Given the description of an element on the screen output the (x, y) to click on. 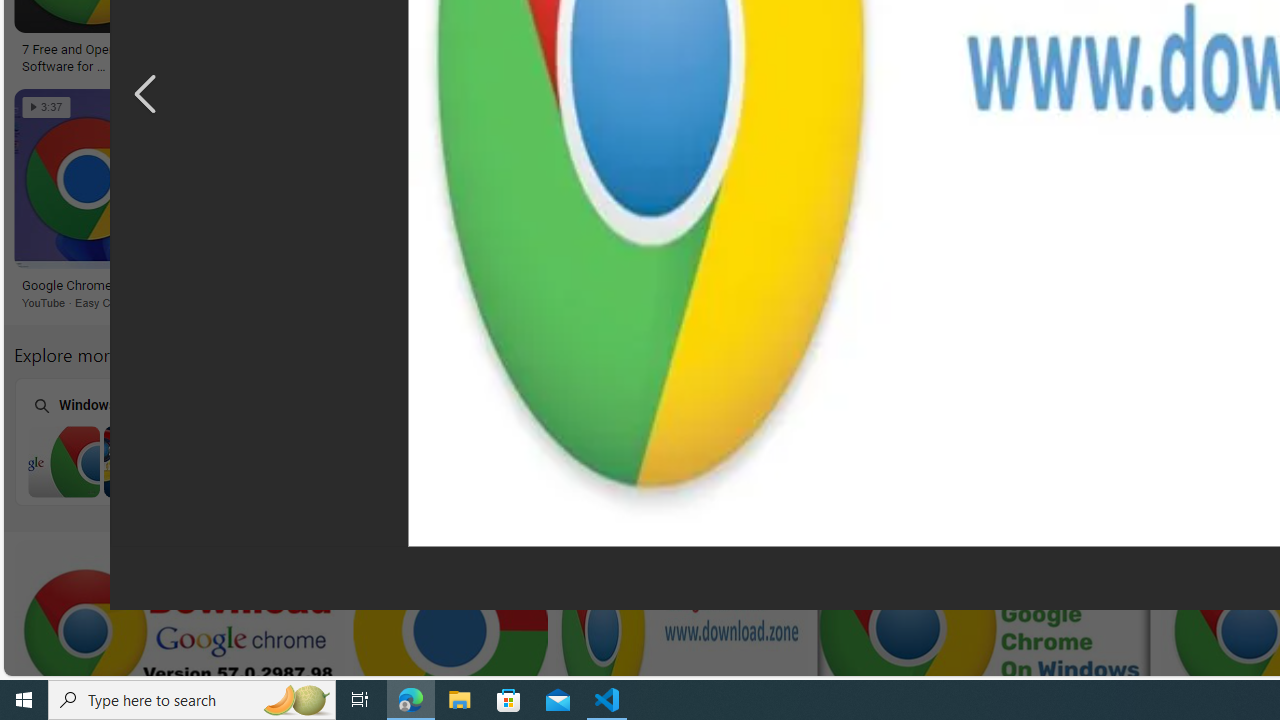
Download Google Chrome As My Web Browser (479, 286)
Image result for Google Chrome Internet Browser Download (817, 179)
All Categories - humanrewa (1024, 50)
Google Chrome Download The Fast Secure Browser From Google (663, 56)
Download internet explorer 9.0 free - snorobotSave (821, 202)
7 Free and Open Source Software for Windows PC | HubPages (91, 56)
Chrome Browser Download Windows 10 64-Bit Windows 10 64-Bit (651, 441)
Windows 10 (907, 440)
Windows 10 64-Bit (651, 440)
Descargar Google Chrome Para Pc 2021 Windows 7810 (364, 50)
Download Chrome Browser in Internet Explorer (396, 461)
Chrome Browser Download Windows 10 64-Bit (652, 461)
